Given the description of an element on the screen output the (x, y) to click on. 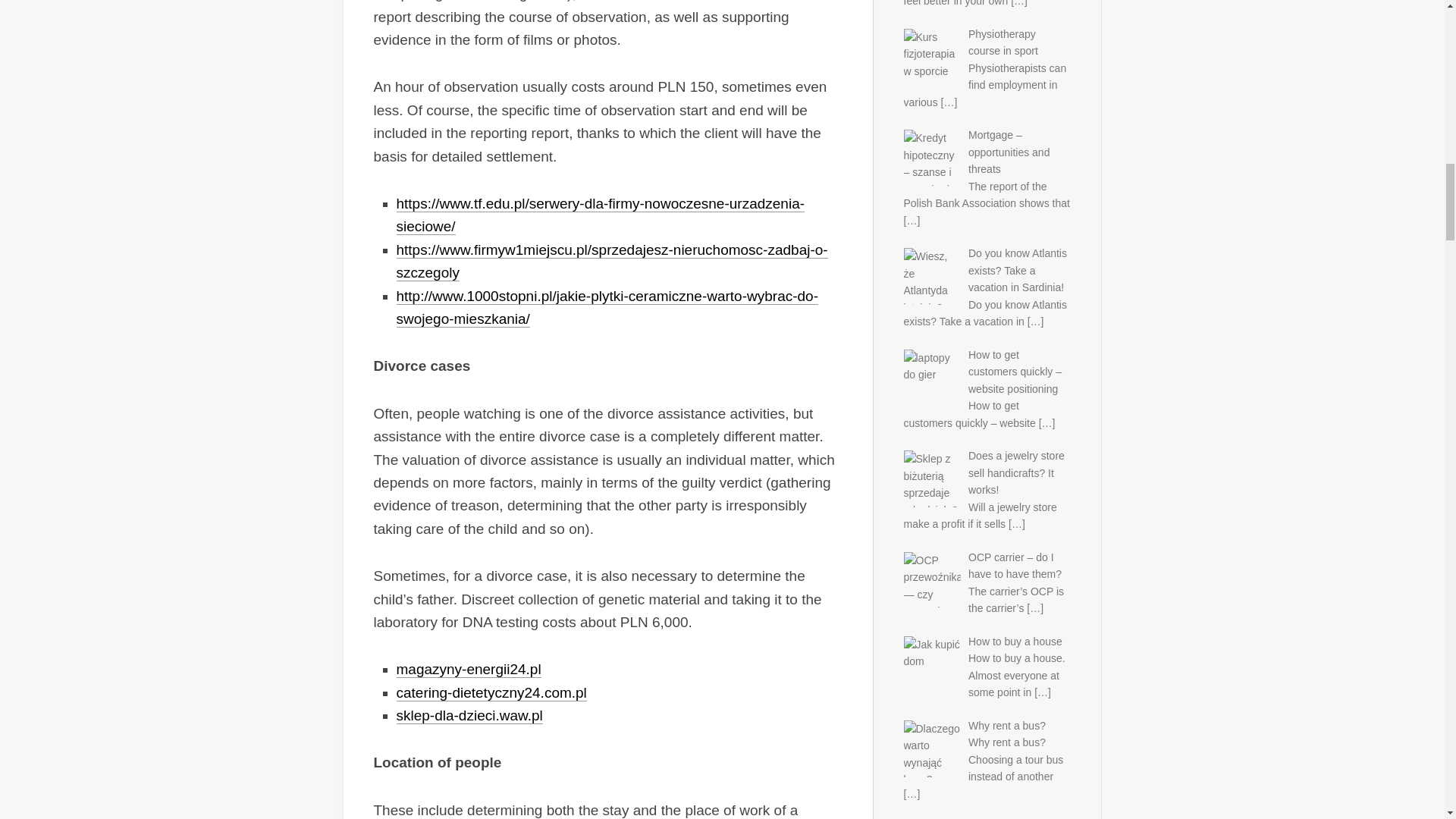
magazyny-energii24.pl (468, 668)
catering-dietetyczny24.com.pl (491, 692)
sklep-dla-dzieci.waw.pl (468, 715)
